Given the description of an element on the screen output the (x, y) to click on. 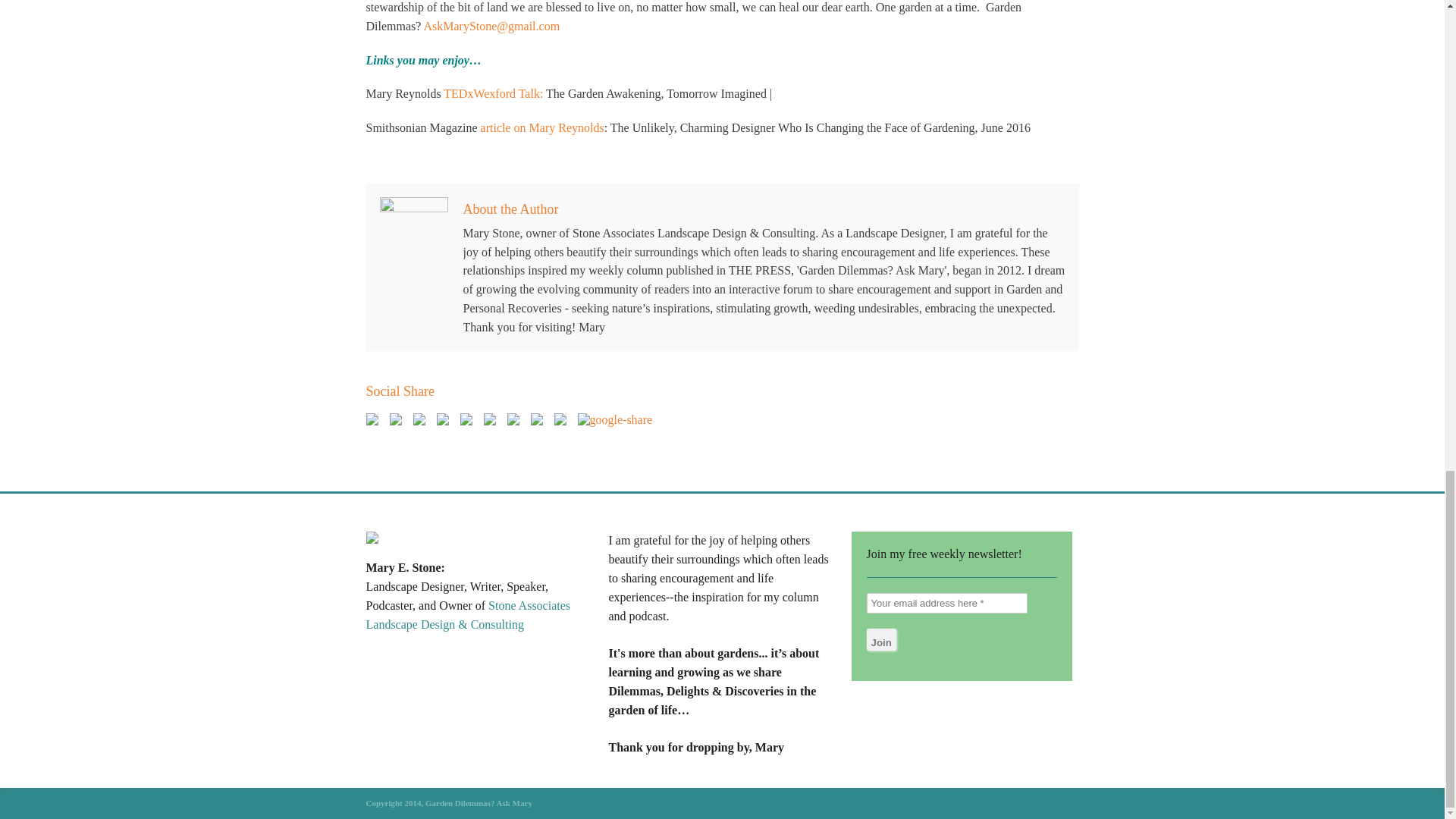
TEDxWexford Talk: (493, 92)
Join (880, 639)
article on Mary Reynolds (542, 127)
Your email address here (946, 602)
Join (880, 639)
